Given the description of an element on the screen output the (x, y) to click on. 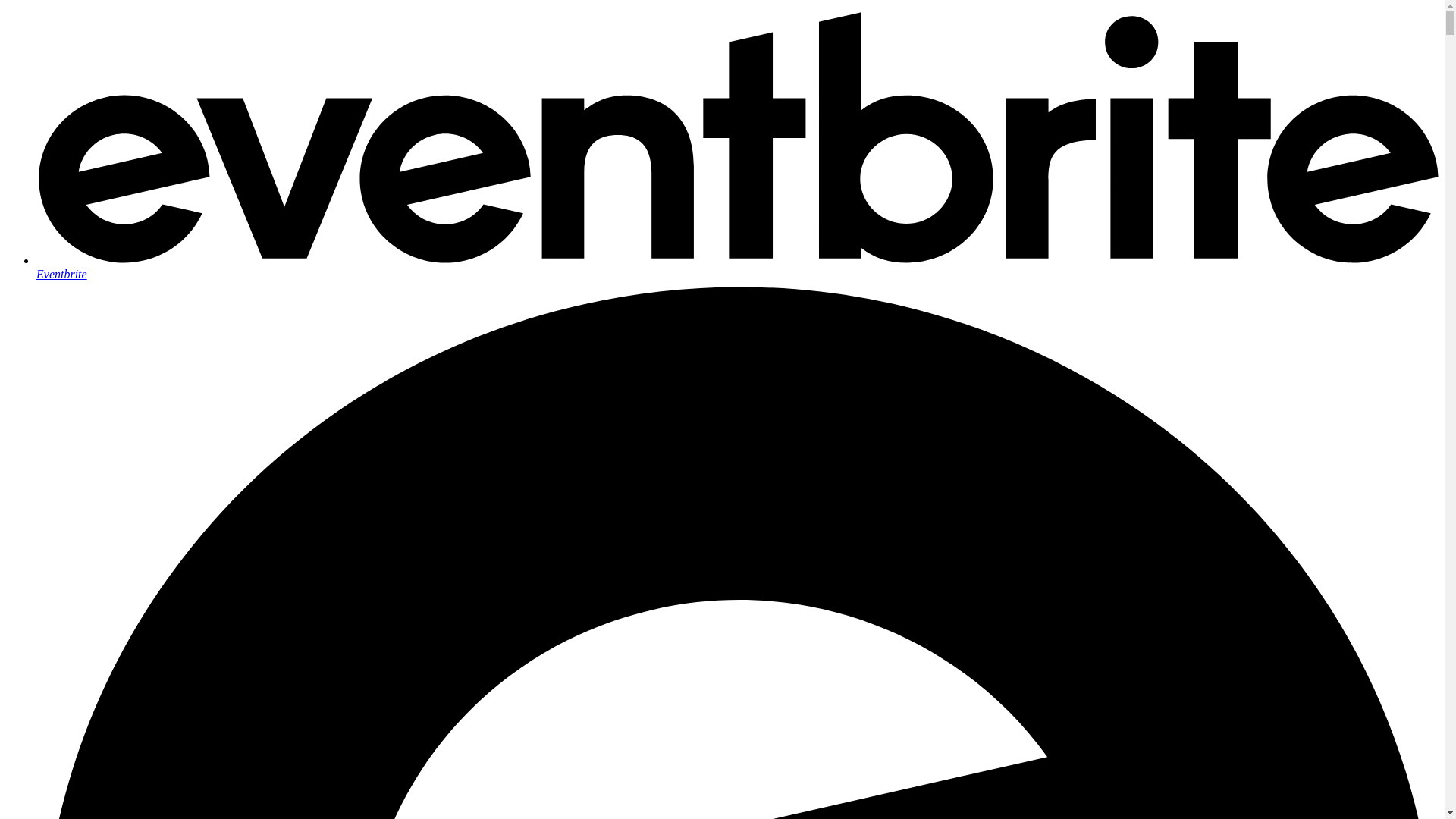
Eventbrite Element type: text (737, 267)
